Given the description of an element on the screen output the (x, y) to click on. 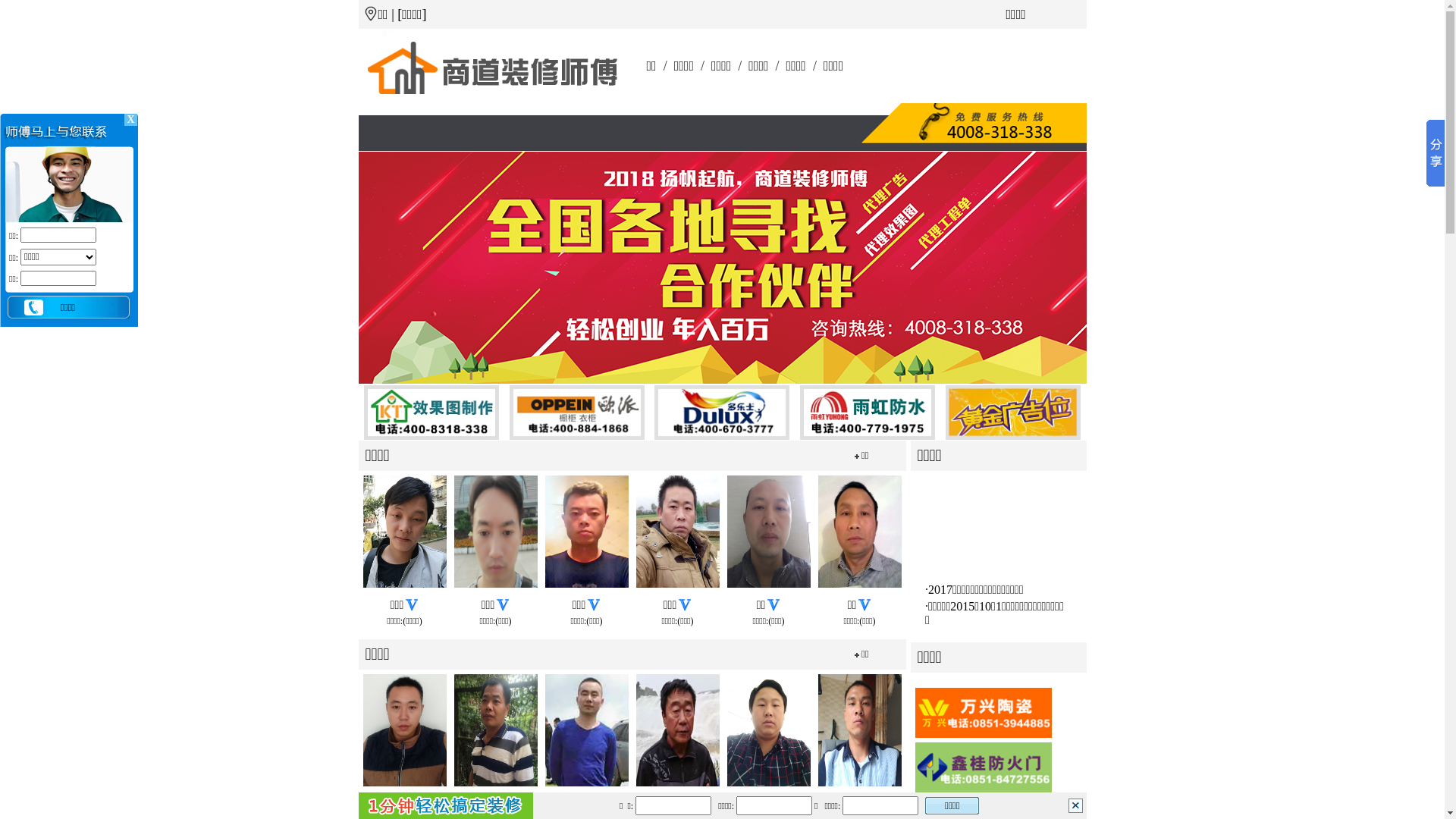
 X  Element type: text (130, 119)
